Given the description of an element on the screen output the (x, y) to click on. 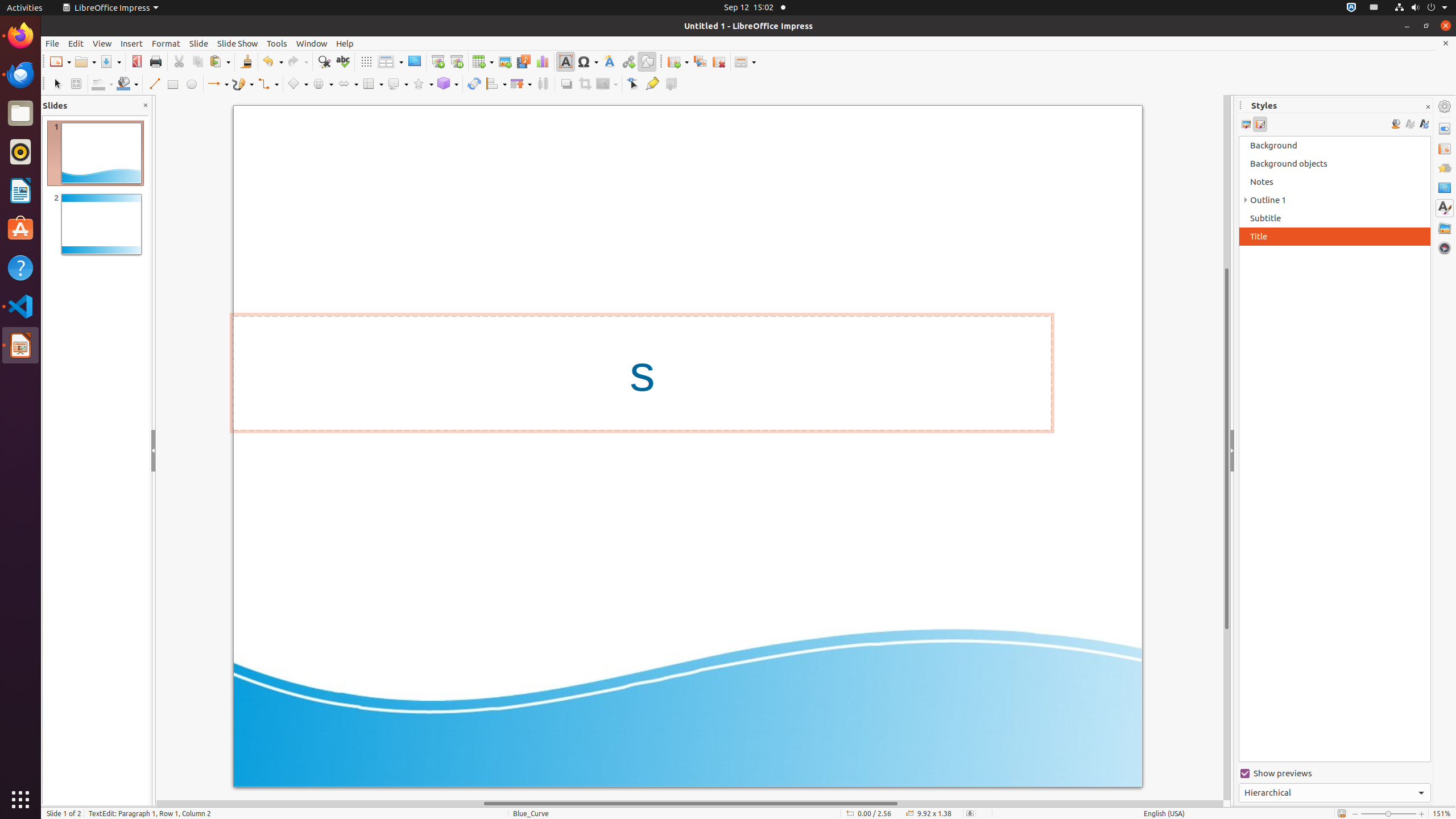
Master Slide Element type: push-button (413, 61)
Filter Element type: push-button (606, 83)
Media Element type: push-button (523, 61)
Horizontal scroll bar Element type: scroll-bar (689, 803)
Connectors Element type: push-button (267, 83)
